Given the description of an element on the screen output the (x, y) to click on. 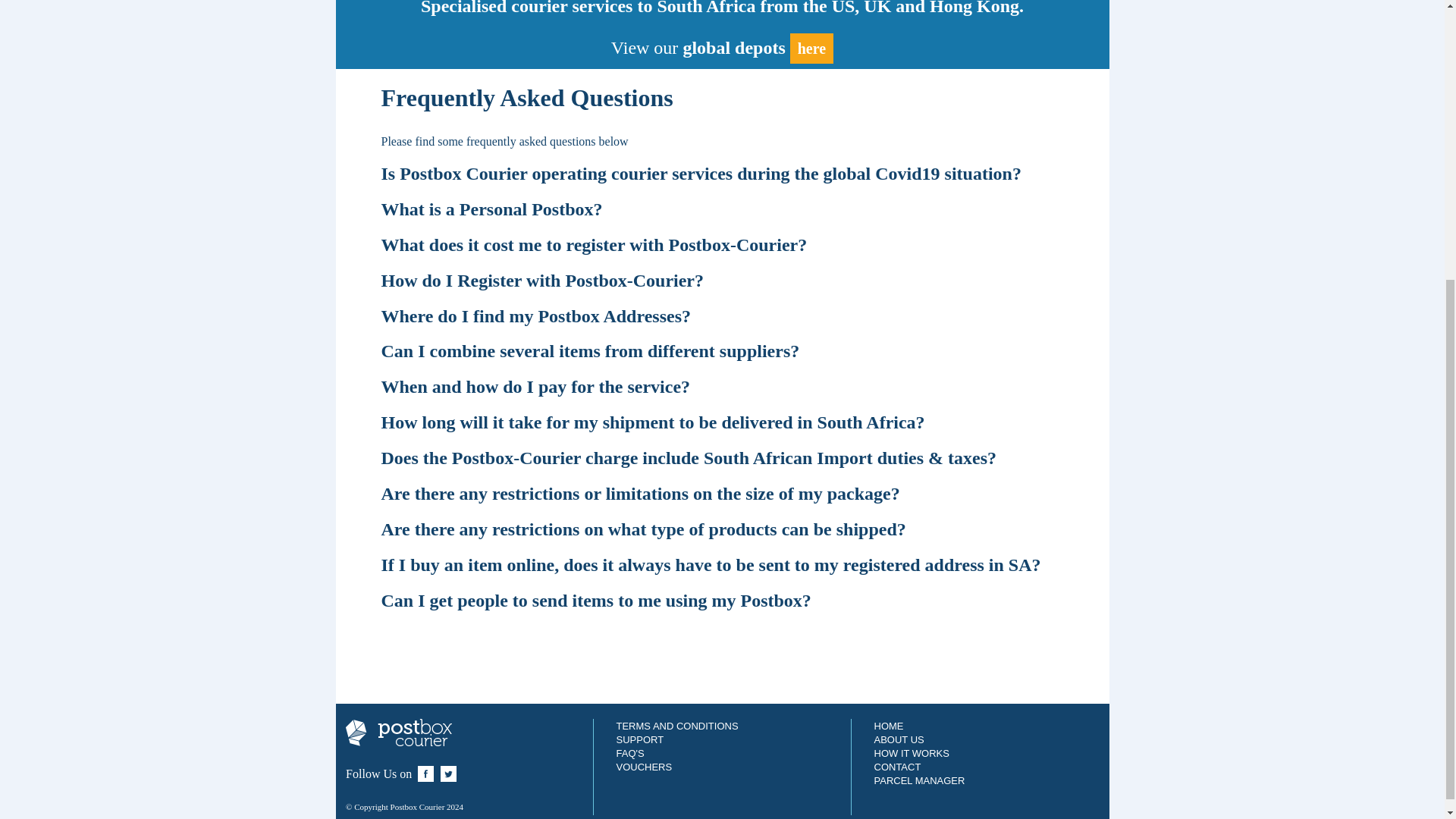
SUPPORT (639, 739)
PARCEL MANAGER (918, 780)
VOUCHERS (643, 767)
HOW IT WORKS (911, 753)
ABOUT US (898, 739)
FAQ'S (629, 753)
here (811, 48)
CONTACT (896, 767)
TERMS AND CONDITIONS (676, 726)
HOME (887, 726)
